Given the description of an element on the screen output the (x, y) to click on. 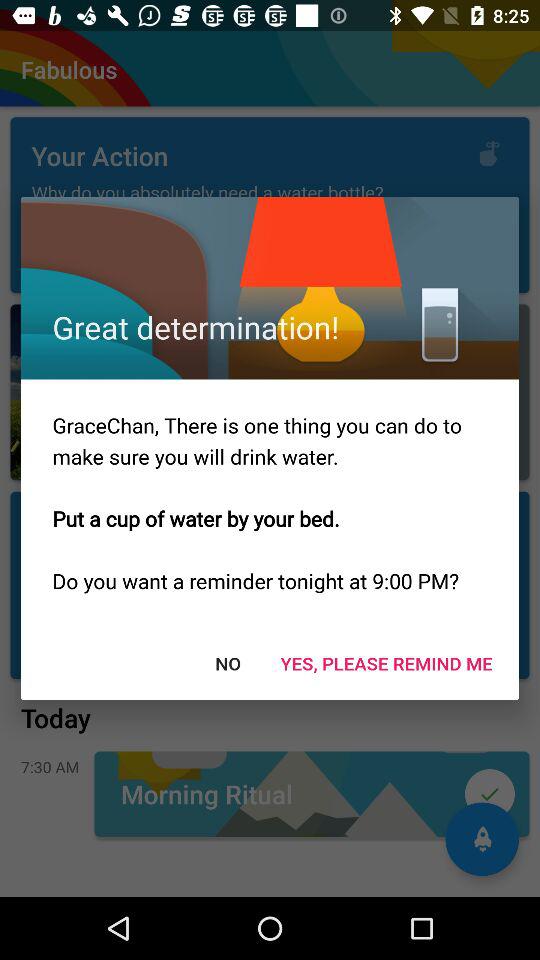
click yes please remind item (386, 662)
